Given the description of an element on the screen output the (x, y) to click on. 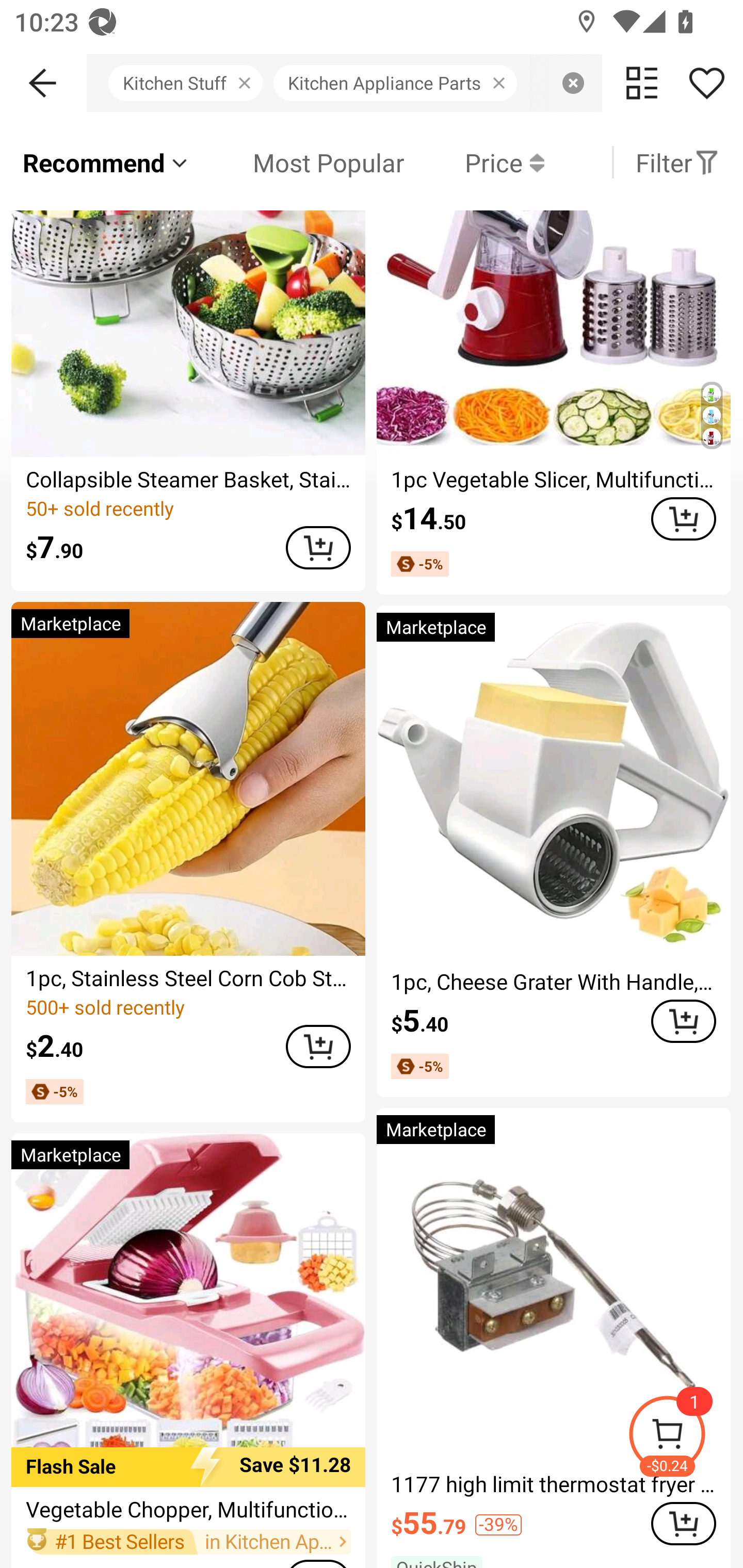
Kitchen Stuff (190, 82)
Kitchen Appliance Parts (400, 82)
Clear (572, 82)
change view (641, 82)
Share (706, 82)
QuickShip (105, 172)
Buy 2 get special discount 2% off (403, 172)
Buy 2 get special discount 1% off (680, 172)
ADD TO CART (683, 518)
ADD TO CART (318, 547)
ADD TO CART (683, 1021)
ADD TO CART (318, 1046)
-$0.24 (685, 1436)
ADD TO CART (683, 1524)
#1 Best Sellers in Kitchen Appliance Parts (188, 1541)
